Given the description of an element on the screen output the (x, y) to click on. 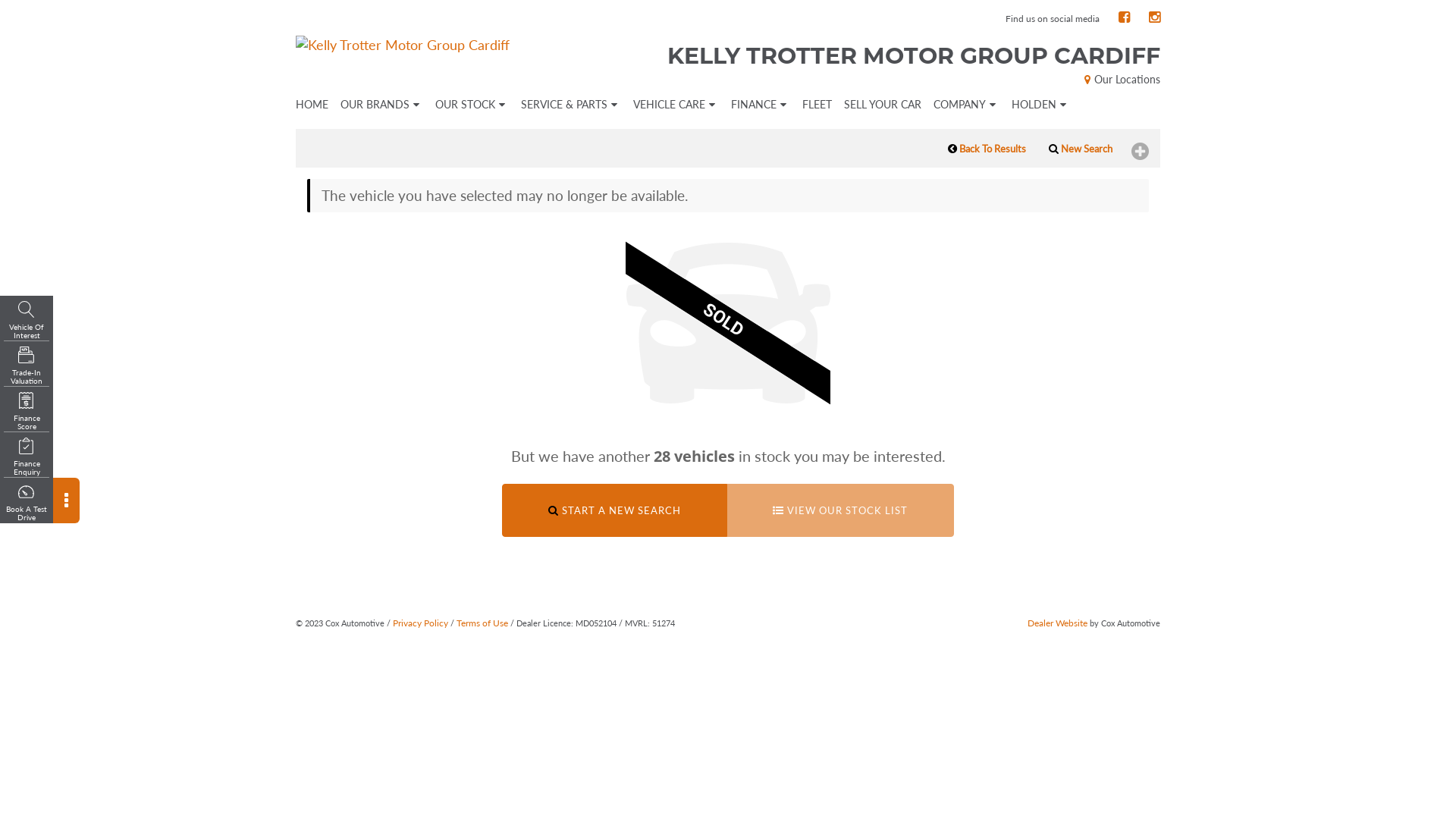
Finance Enquiry Element type: text (26, 456)
Back To Results Element type: text (986, 148)
Book A Test Drive Element type: text (26, 502)
SELL YOUR CAR Element type: text (882, 104)
Instagram Element type: hover (1154, 17)
HOLDEN Element type: text (1040, 104)
Facebook Element type: hover (1123, 17)
SERVICE & PARTS Element type: text (570, 104)
Terms of Use Element type: text (482, 622)
COMPANY Element type: text (966, 104)
Vehicle Of Interest Element type: text (26, 320)
Finance Score Element type: text (26, 411)
OUR STOCK Element type: text (471, 104)
Trade-In Valuation Element type: text (26, 365)
VEHICLE CARE Element type: text (675, 104)
Privacy Policy Element type: text (420, 622)
VIEW OUR STOCK LIST Element type: text (839, 510)
Dealer Website Element type: text (1057, 622)
New Search Element type: text (1080, 148)
FINANCE Element type: text (760, 104)
START A NEW SEARCH Element type: text (614, 510)
OUR BRANDS Element type: text (381, 104)
HOME Element type: text (307, 104)
FLEET Element type: text (816, 104)
Our Locations Element type: text (1120, 78)
